Given the description of an element on the screen output the (x, y) to click on. 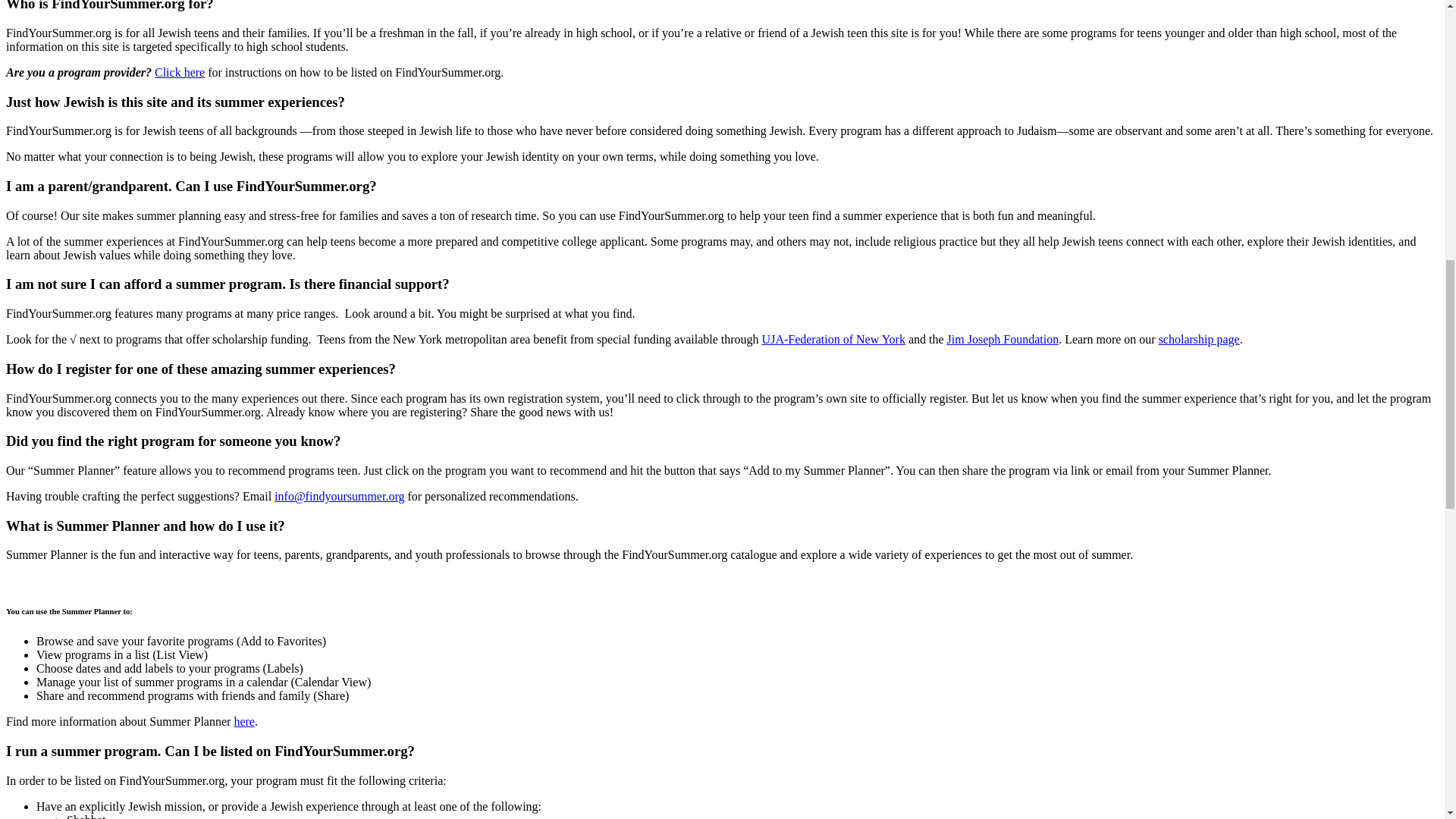
Jim Joseph Foundation (1003, 338)
UJA-Federation of New York (833, 338)
scholarship page (1199, 338)
Click here (179, 72)
